Given the description of an element on the screen output the (x, y) to click on. 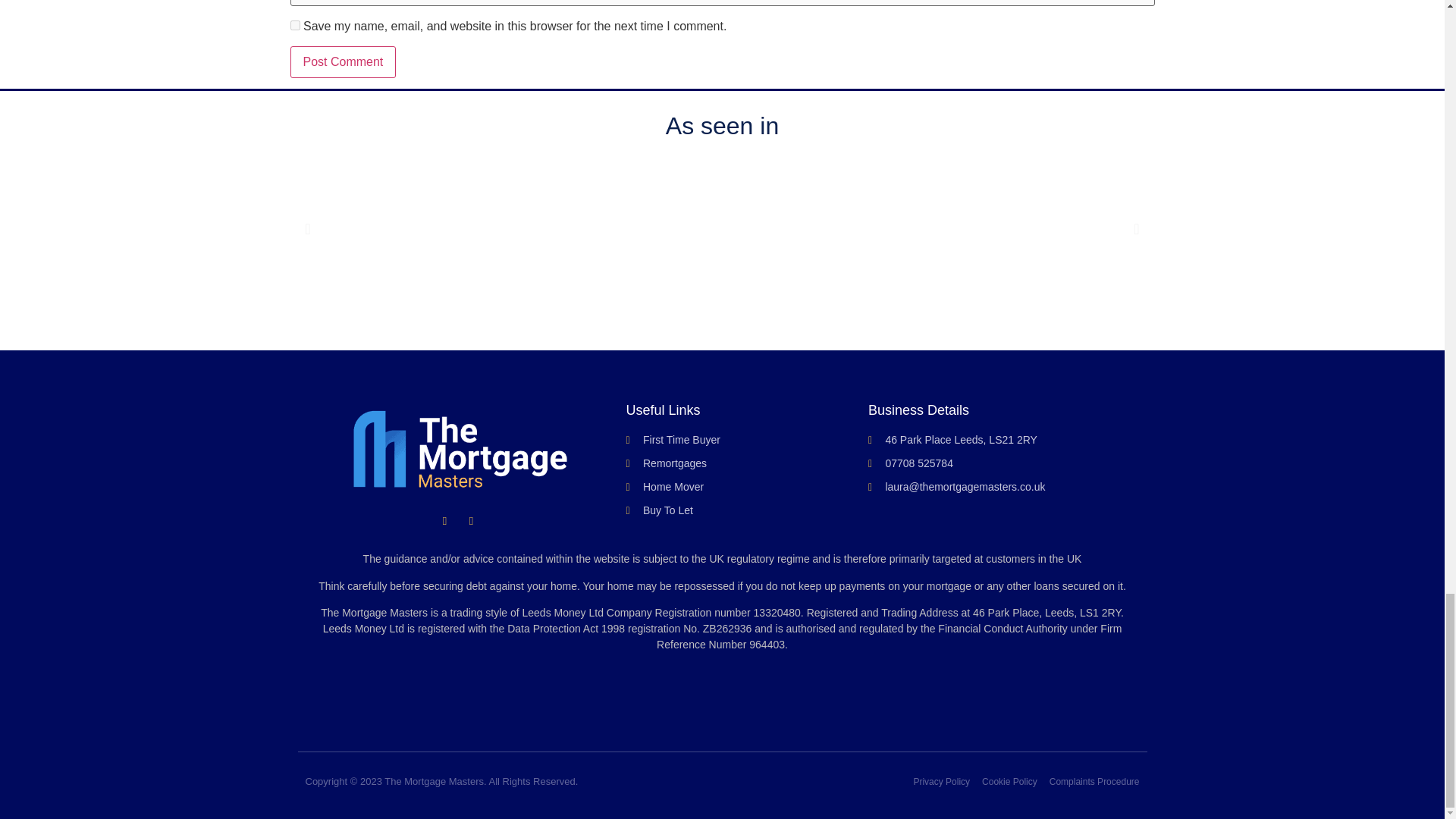
Post Comment (342, 61)
yes (294, 25)
